Given the description of an element on the screen output the (x, y) to click on. 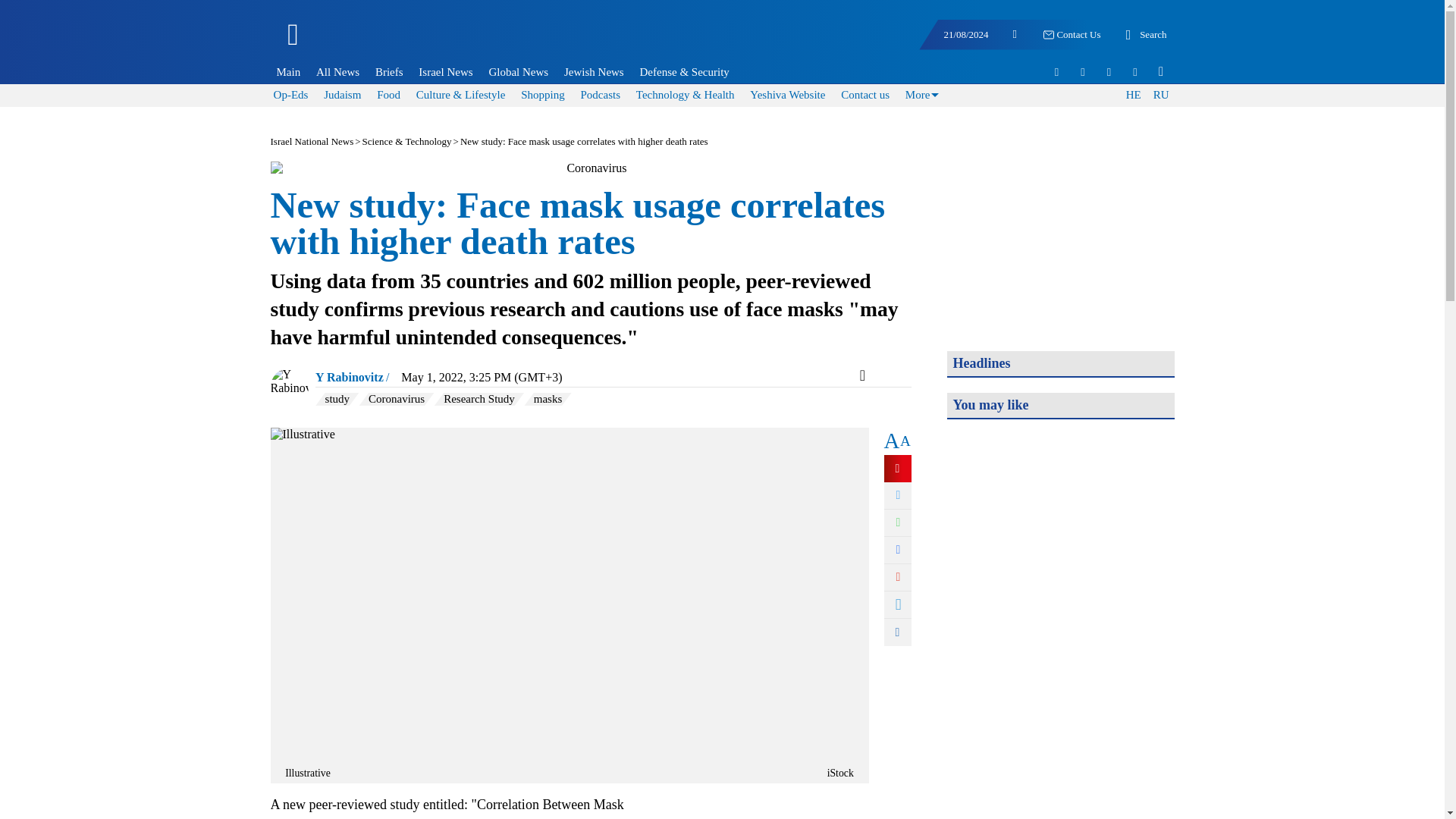
HE (1133, 95)
Op-Eds (290, 94)
RU (1160, 95)
All News (337, 71)
Briefs (389, 71)
Food (388, 94)
Podcasts (599, 94)
Yeshiva Website (787, 94)
Search (1143, 34)
Contact Us (1071, 34)
